Given the description of an element on the screen output the (x, y) to click on. 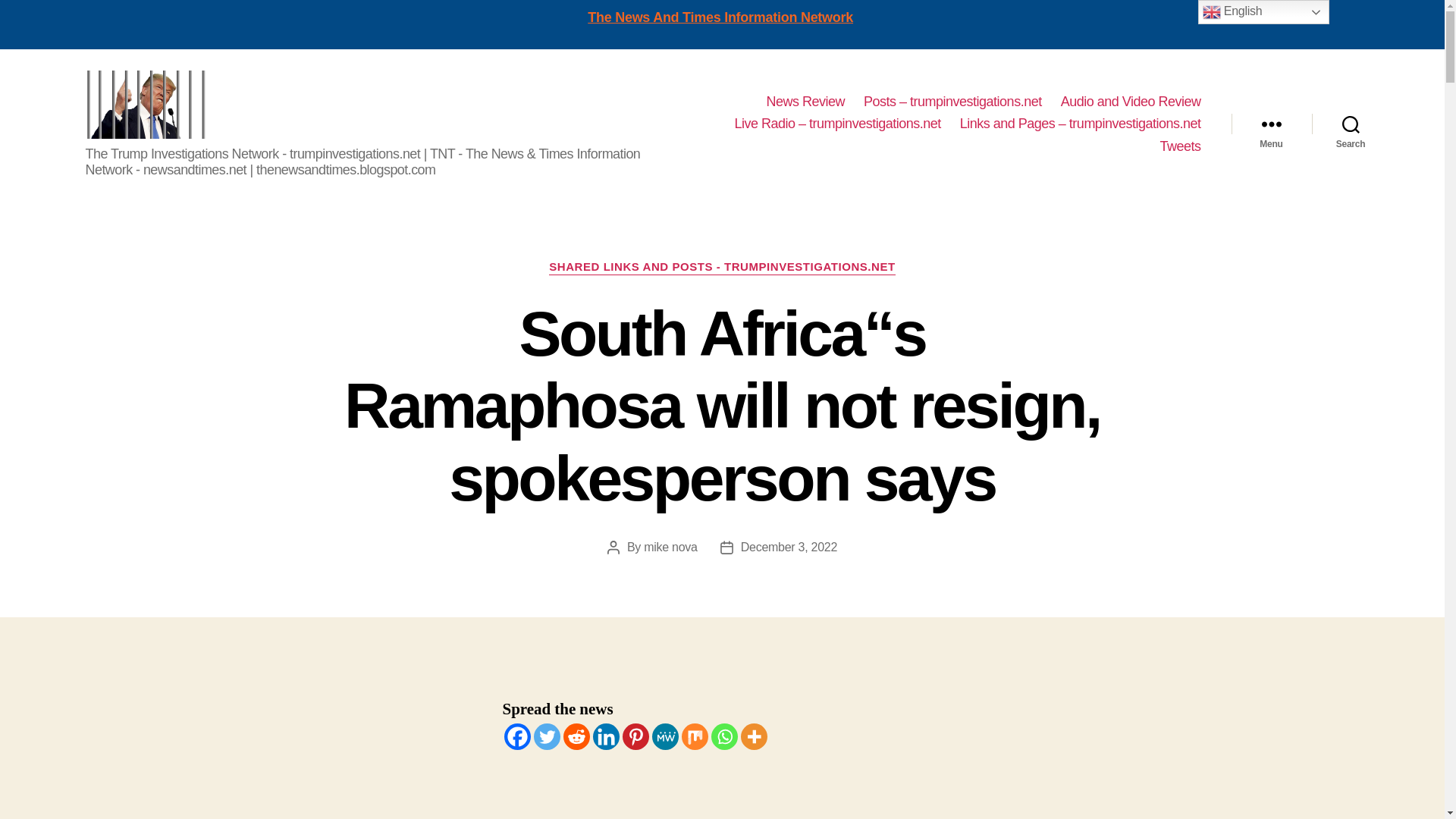
The News And Times Information Network (720, 17)
mike nova (670, 546)
More (753, 736)
December 3, 2022 (789, 546)
MeWe (665, 736)
Facebook (516, 736)
Audio and Video Review (1131, 102)
Pinterest (634, 736)
Whatsapp (724, 736)
Linkedin (606, 736)
News Review (804, 102)
Reddit (575, 736)
SHARED LINKS AND POSTS - TRUMPINVESTIGATIONS.NET (721, 267)
Menu (1271, 123)
Mix (694, 736)
